Given the description of an element on the screen output the (x, y) to click on. 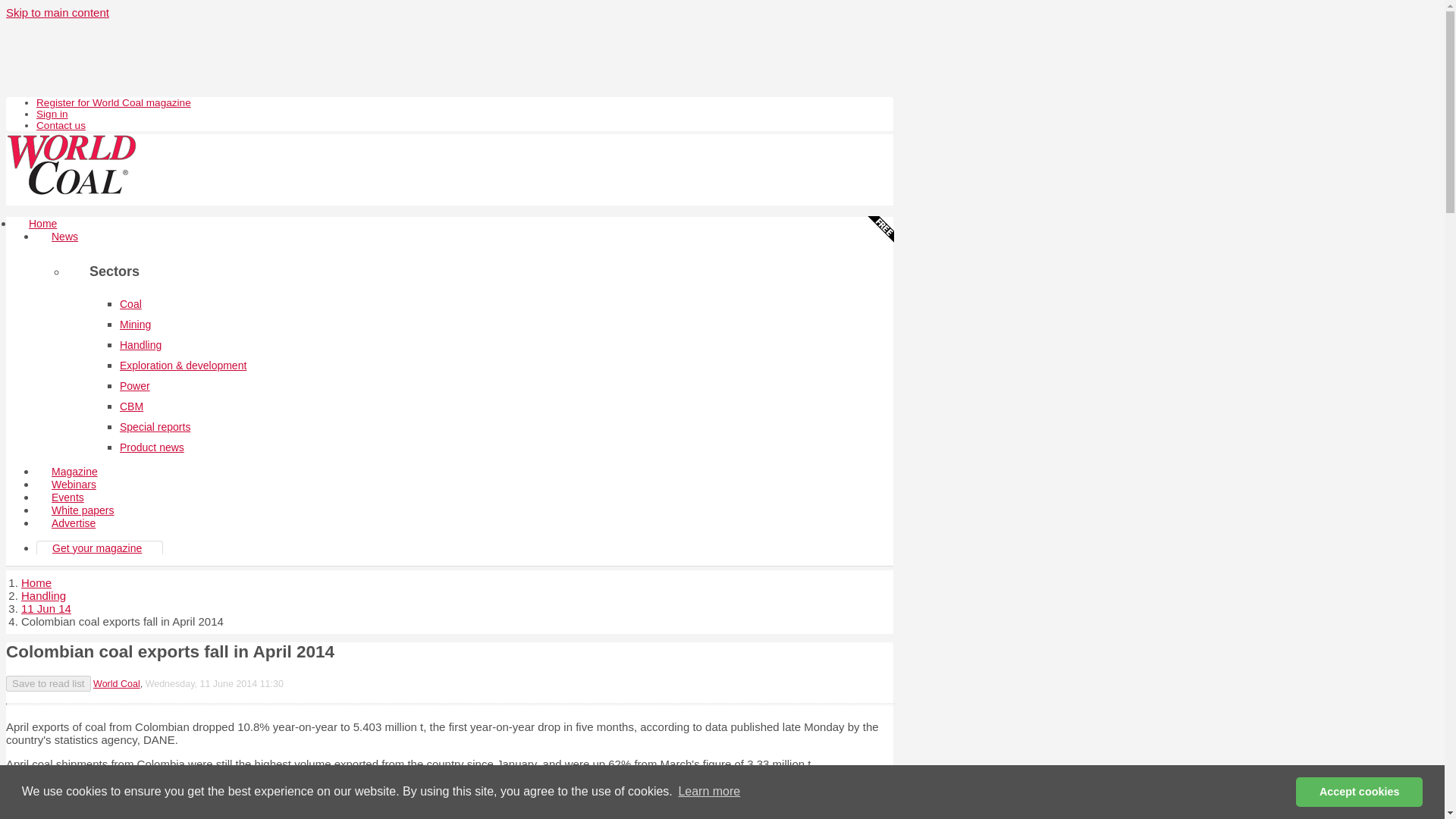
Handling (43, 594)
Save to read list (47, 683)
Contact us (60, 125)
Power (134, 386)
Accept cookies (1358, 791)
White papers (82, 510)
Home (35, 582)
Events (67, 497)
Home (42, 223)
Get your magazine (97, 547)
Learn more (708, 791)
CBM (130, 406)
Advertise (73, 523)
World Coal (116, 683)
Coal (130, 304)
